Given the description of an element on the screen output the (x, y) to click on. 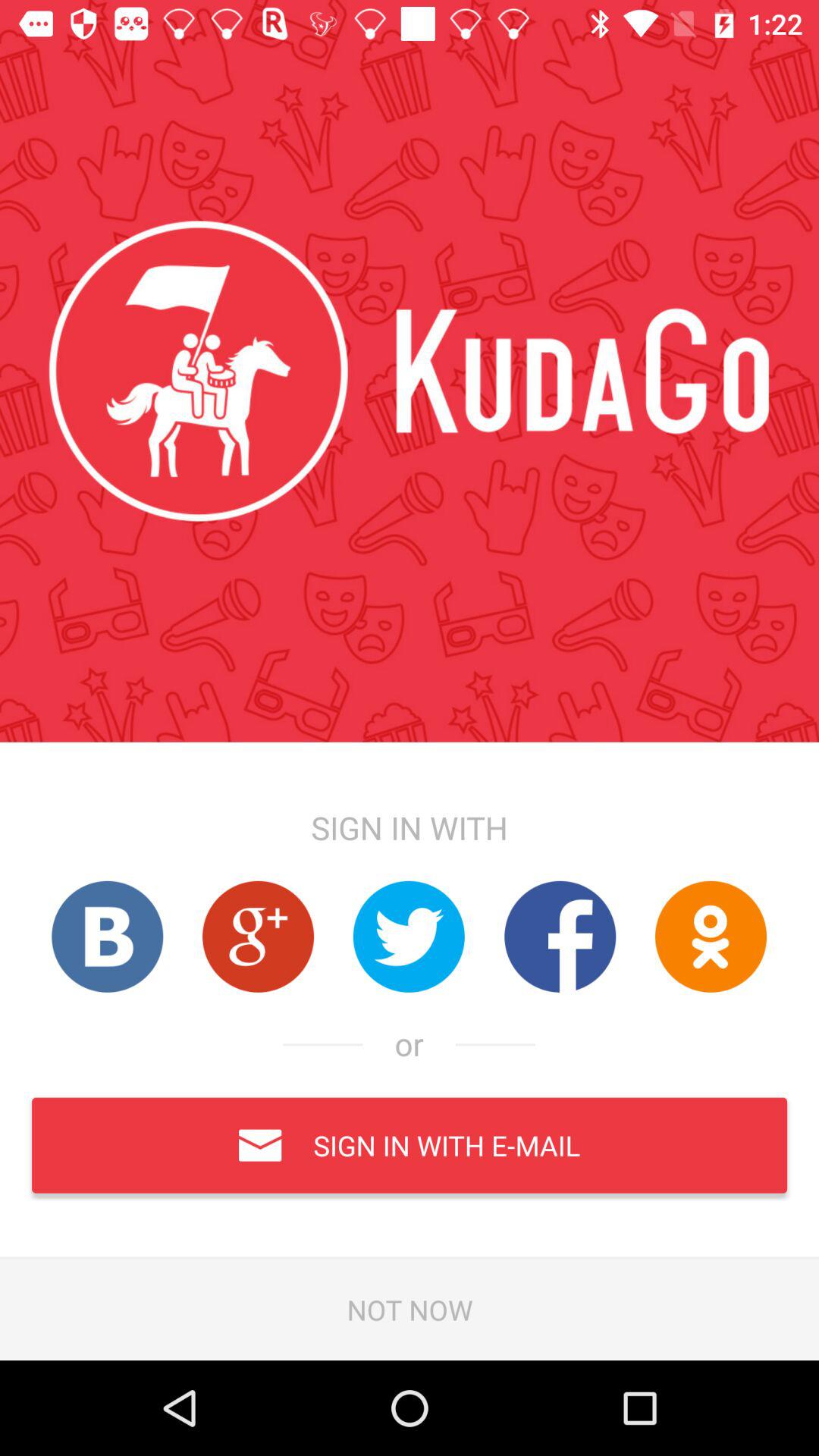
go to the app (106, 936)
